Given the description of an element on the screen output the (x, y) to click on. 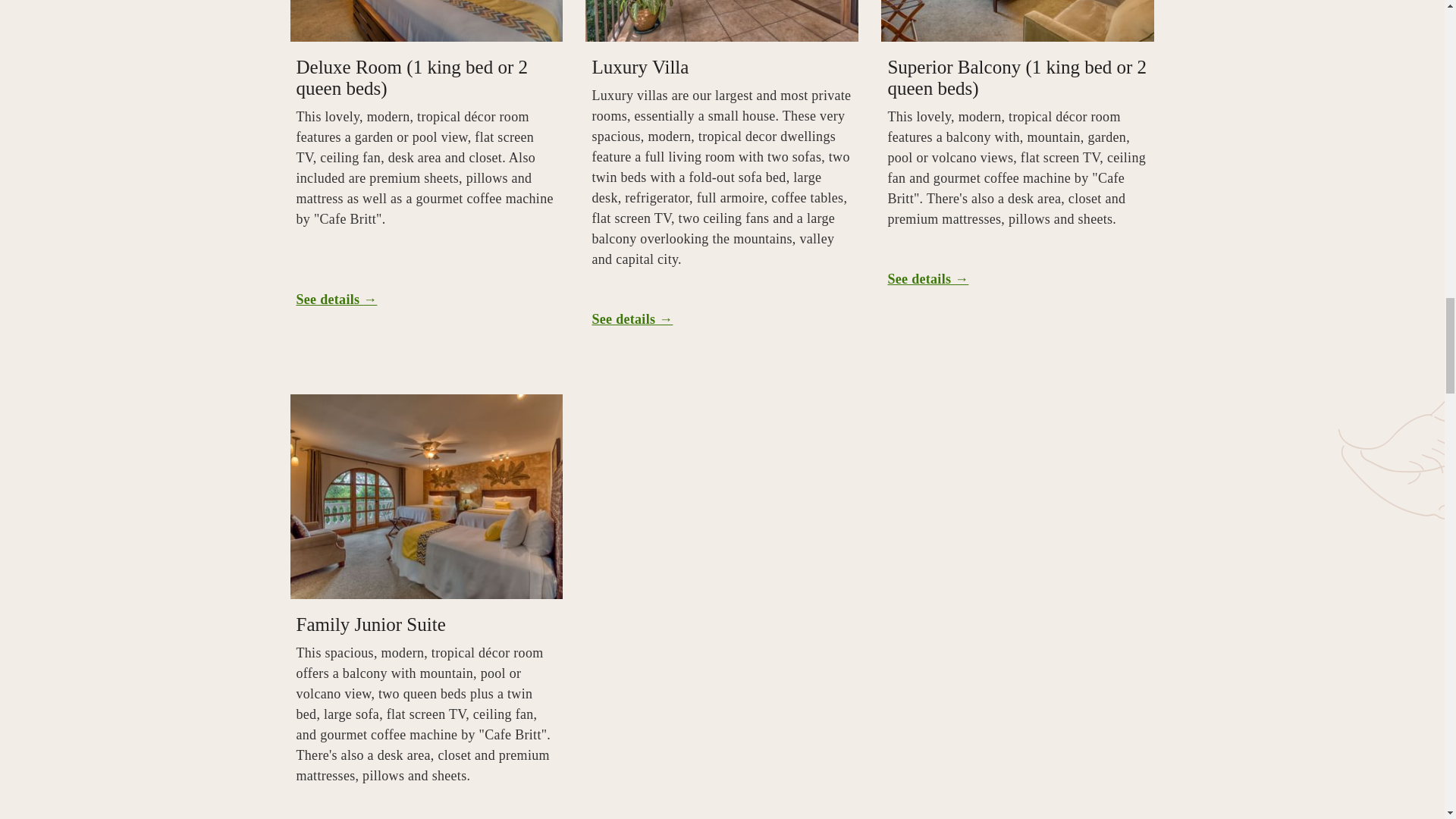
Luxury Villa (639, 66)
See details (631, 319)
See details (336, 299)
Family Junior Suite (370, 624)
See details (927, 279)
